Given the description of an element on the screen output the (x, y) to click on. 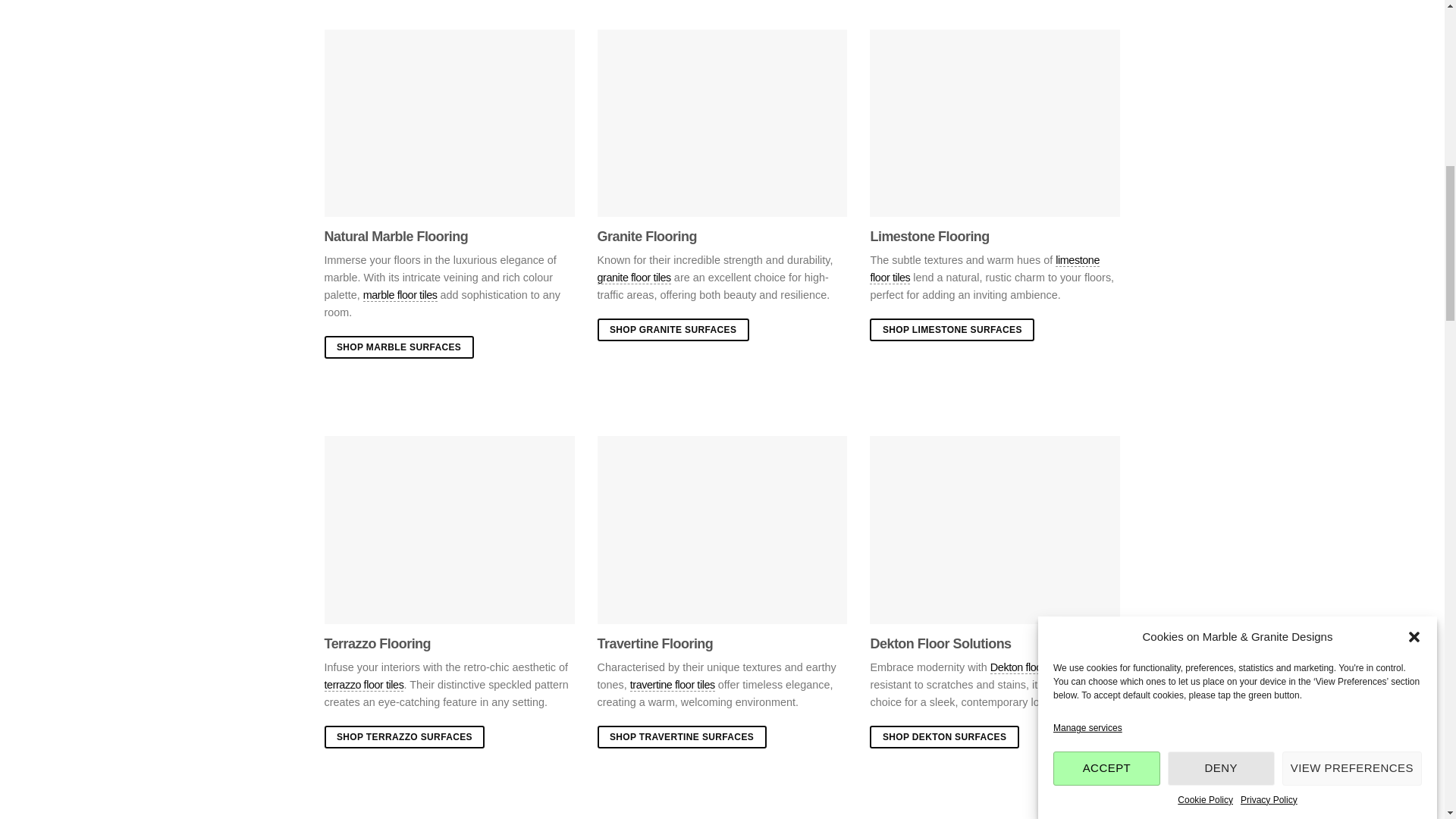
DENY (1221, 123)
VIEW PREFERENCES (1352, 110)
Cookie Policy (1205, 76)
Privacy Policy (1268, 55)
ACCEPT (1106, 148)
Manage services (1087, 214)
